Given the description of an element on the screen output the (x, y) to click on. 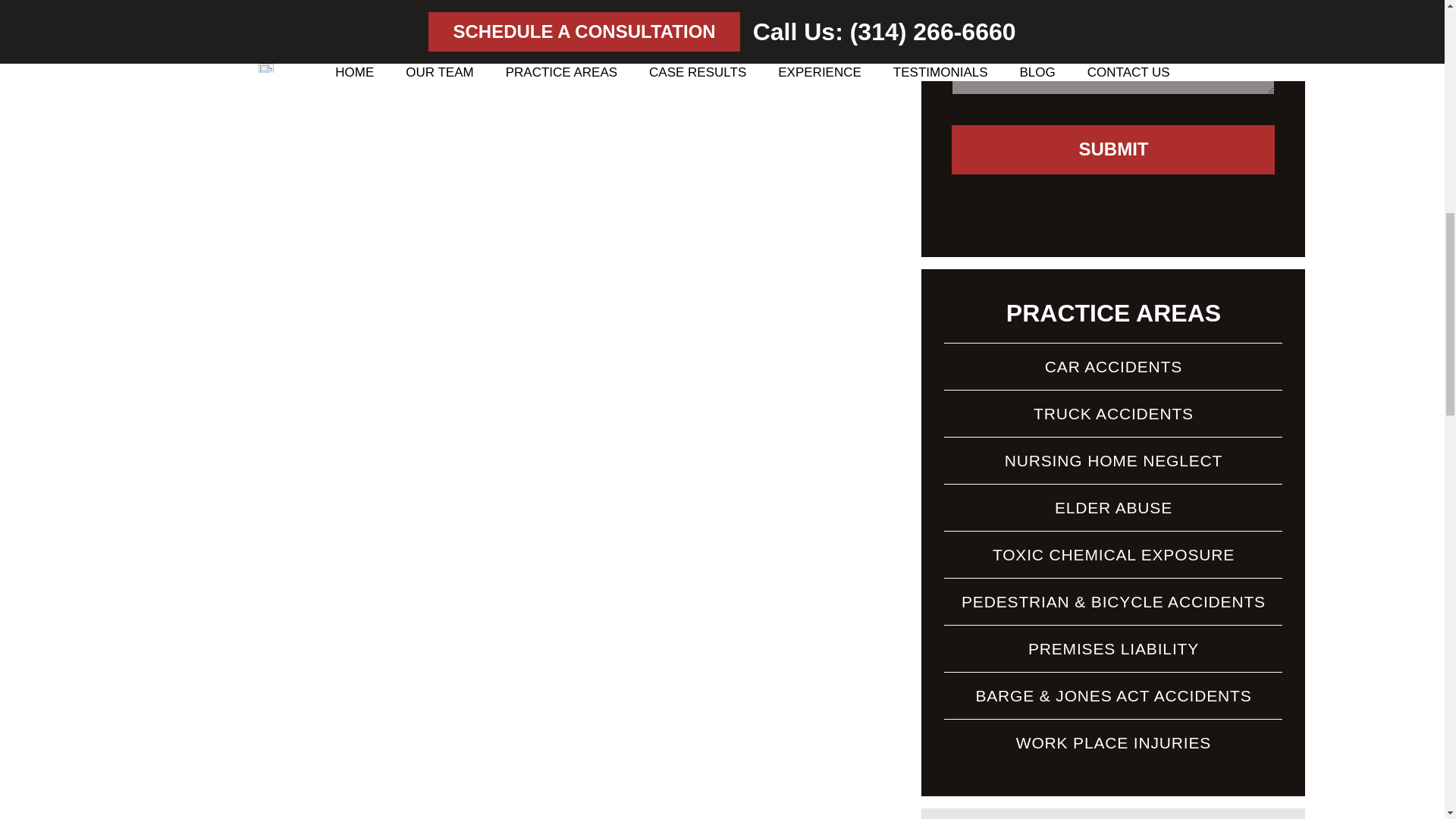
SUBMIT (1113, 149)
CAR ACCIDENTS (1112, 366)
TRUCK ACCIDENTS (1112, 413)
